Given the description of an element on the screen output the (x, y) to click on. 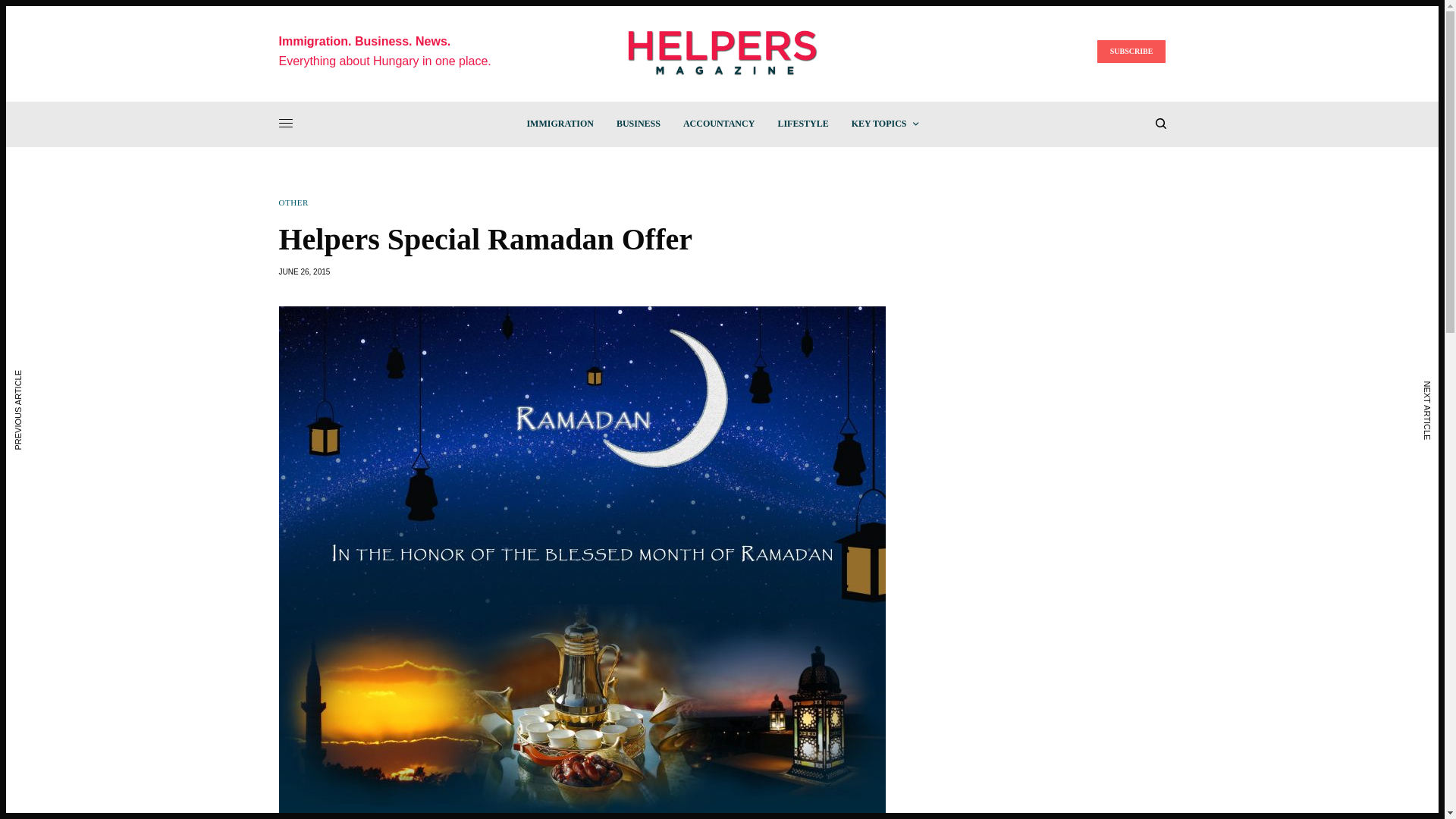
IMMIGRATION (558, 123)
KEY TOPICS (884, 123)
SUBSCRIBE (1131, 51)
LIFESTYLE (802, 123)
OTHER (293, 203)
Helpers Magazine (722, 51)
BUSINESS (638, 123)
ACCOUNTANCY (718, 123)
